Given the description of an element on the screen output the (x, y) to click on. 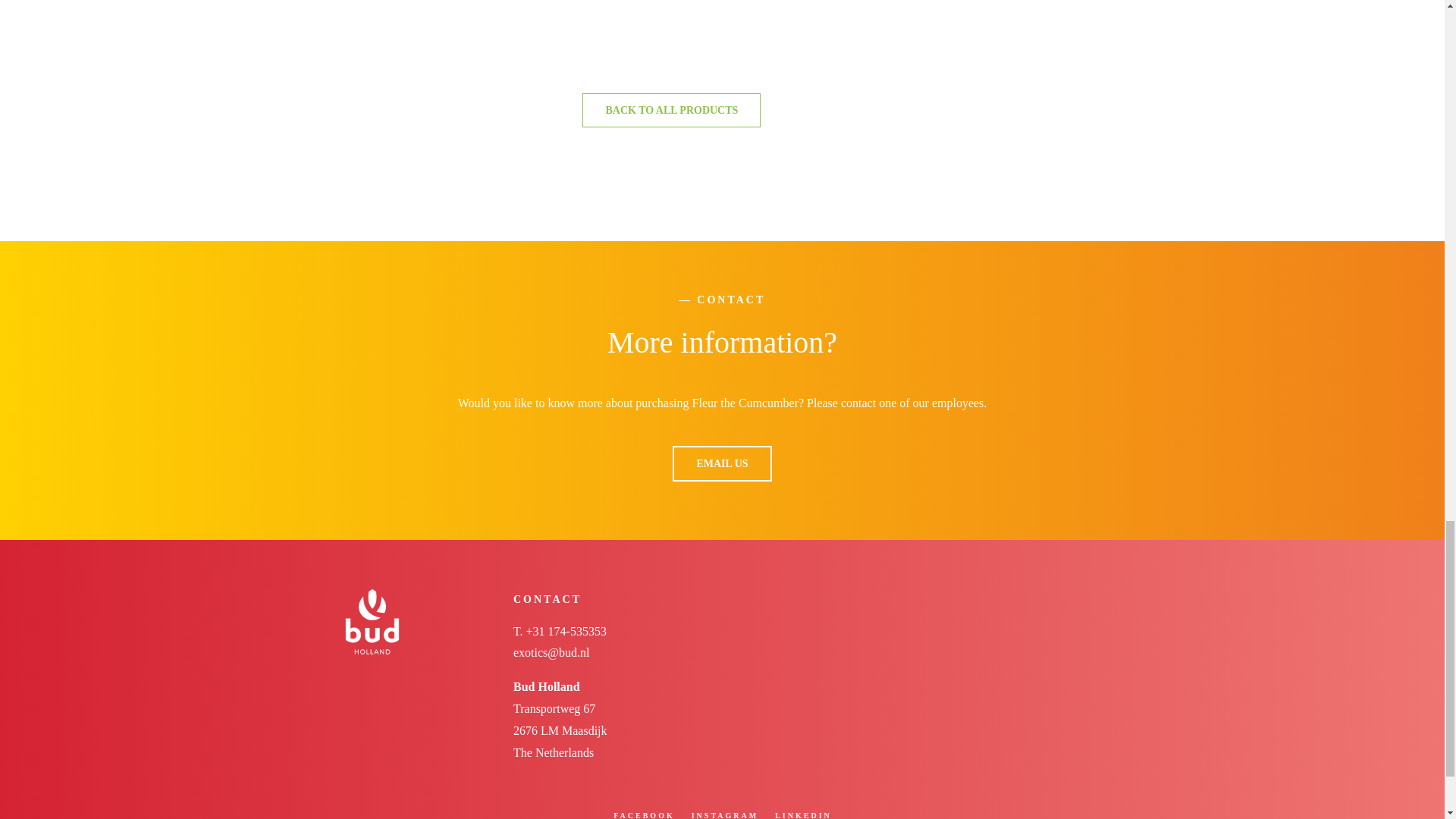
LINKEDIN (802, 815)
INSTAGRAM (724, 815)
BACK TO ALL PRODUCTS (671, 110)
EMAIL US (721, 463)
FACEBOOK (643, 815)
